Given the description of an element on the screen output the (x, y) to click on. 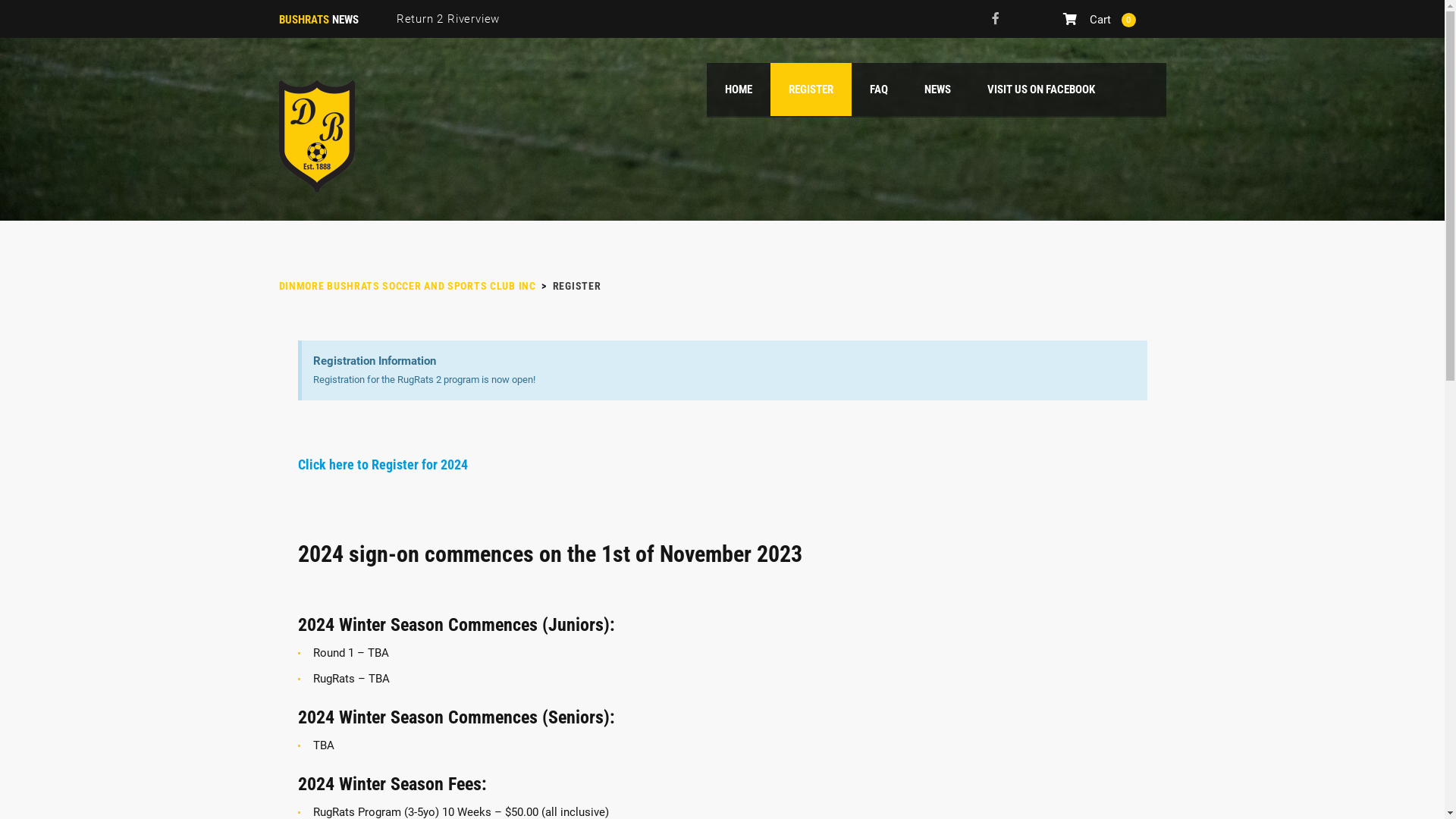
QCSA, Element type: text (367, 664)
HOME Element type: text (738, 89)
ABOUT US Element type: text (1007, 784)
Return 2 Riverview Element type: text (447, 18)
FAQ Element type: text (1056, 784)
DINMORE BUSHRATS SOCCER AND SPORTS CLUB INC Element type: text (407, 285)
VISIT US ON FACEBOOK Element type: text (1041, 89)
REGISTER Element type: text (810, 89)
REGISTER Element type: text (898, 784)
info@dinmorebushrats.com.au Element type: text (838, 537)
Home Element type: hover (316, 135)
Click here to Register for 2024  Element type: text (383, 464)
HOME Element type: text (1143, 784)
Cart 0 Element type: text (1099, 18)
SHOP Element type: text (953, 784)
FAQ Element type: text (877, 89)
NEWS Element type: text (936, 89)
NEWS Element type: text (1097, 784)
